Given the description of an element on the screen output the (x, y) to click on. 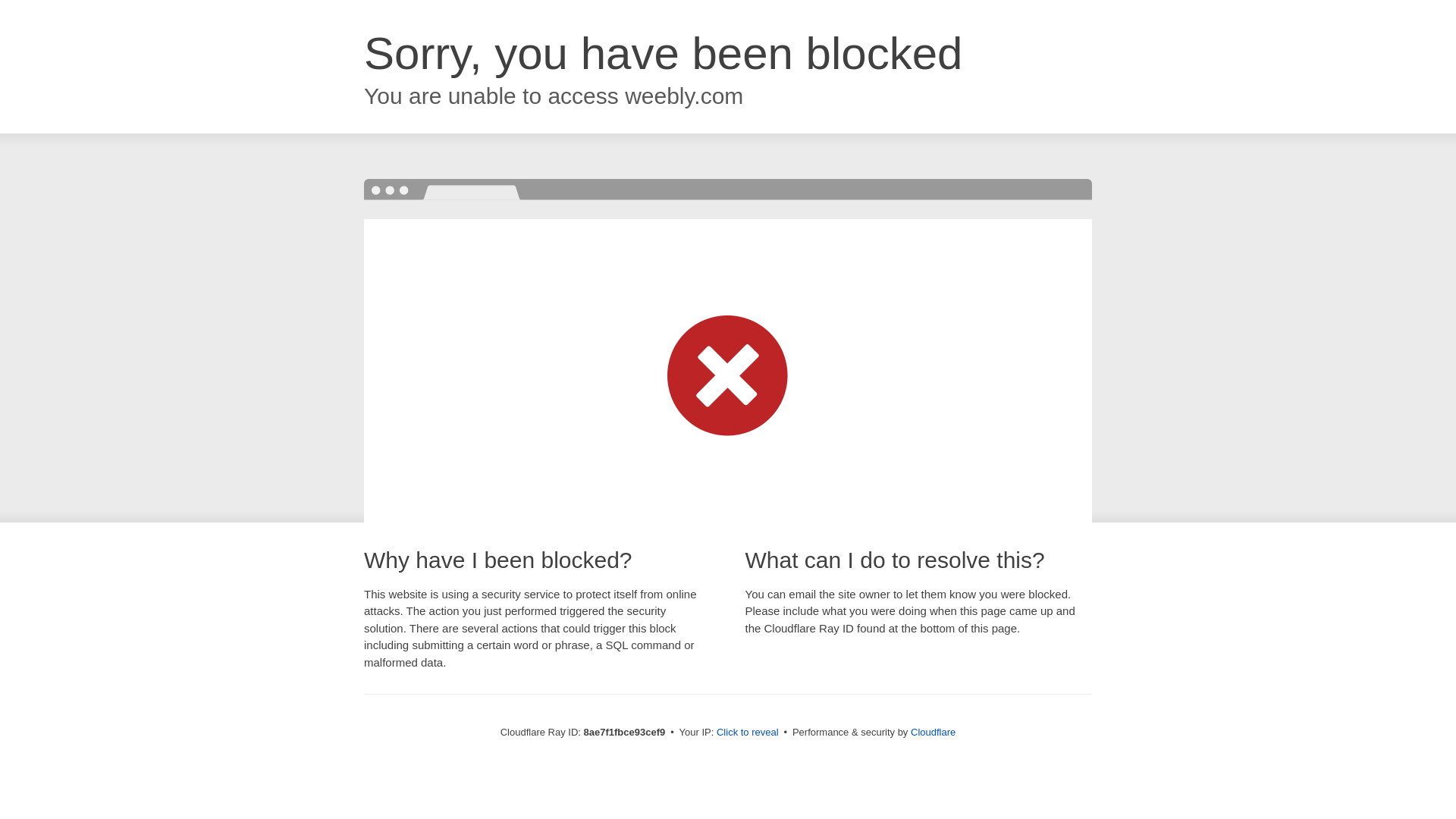
Cloudflare (933, 731)
Click to reveal (747, 732)
